Given the description of an element on the screen output the (x, y) to click on. 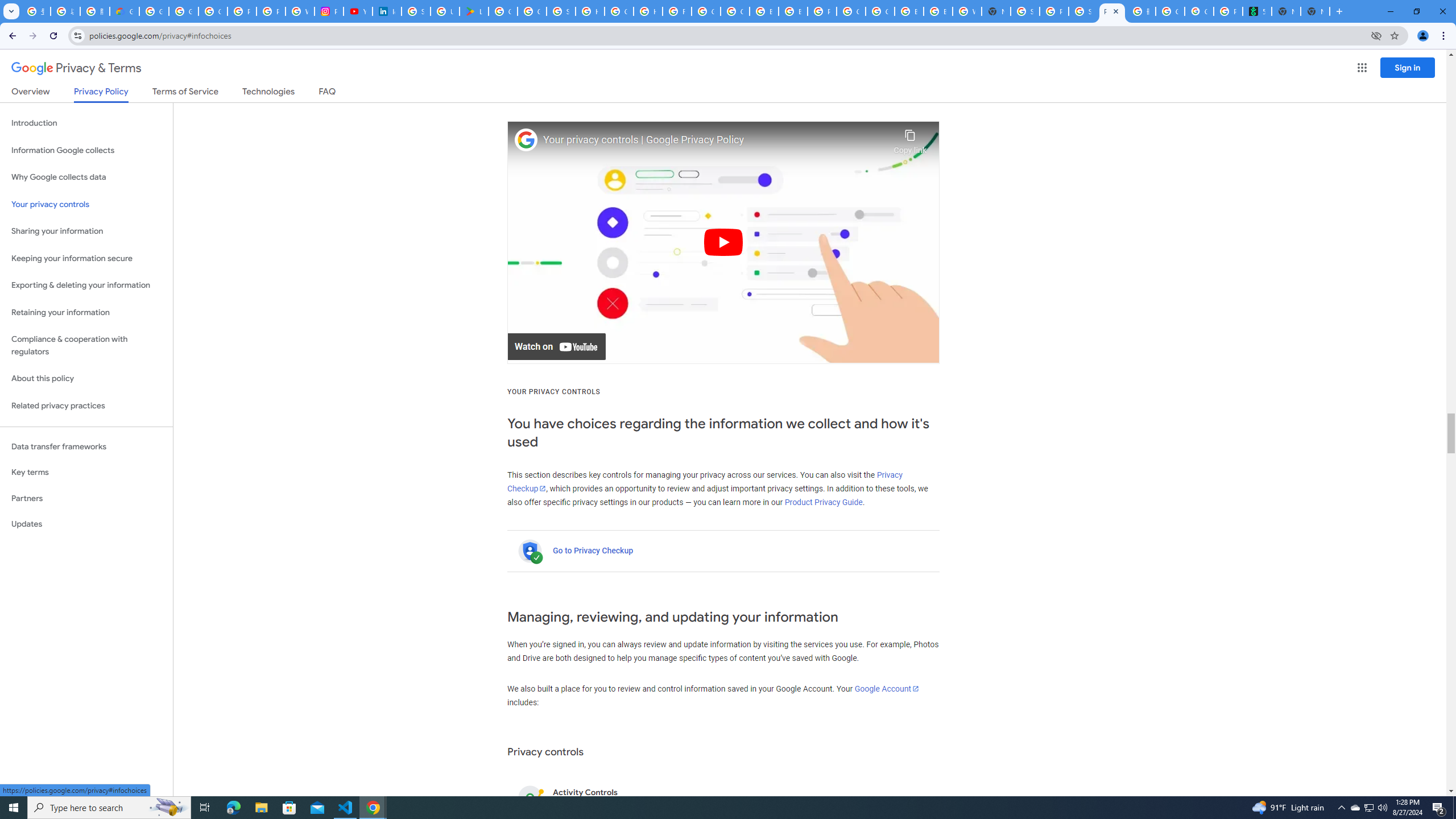
Sign in - Google Accounts (415, 11)
